Given the description of an element on the screen output the (x, y) to click on. 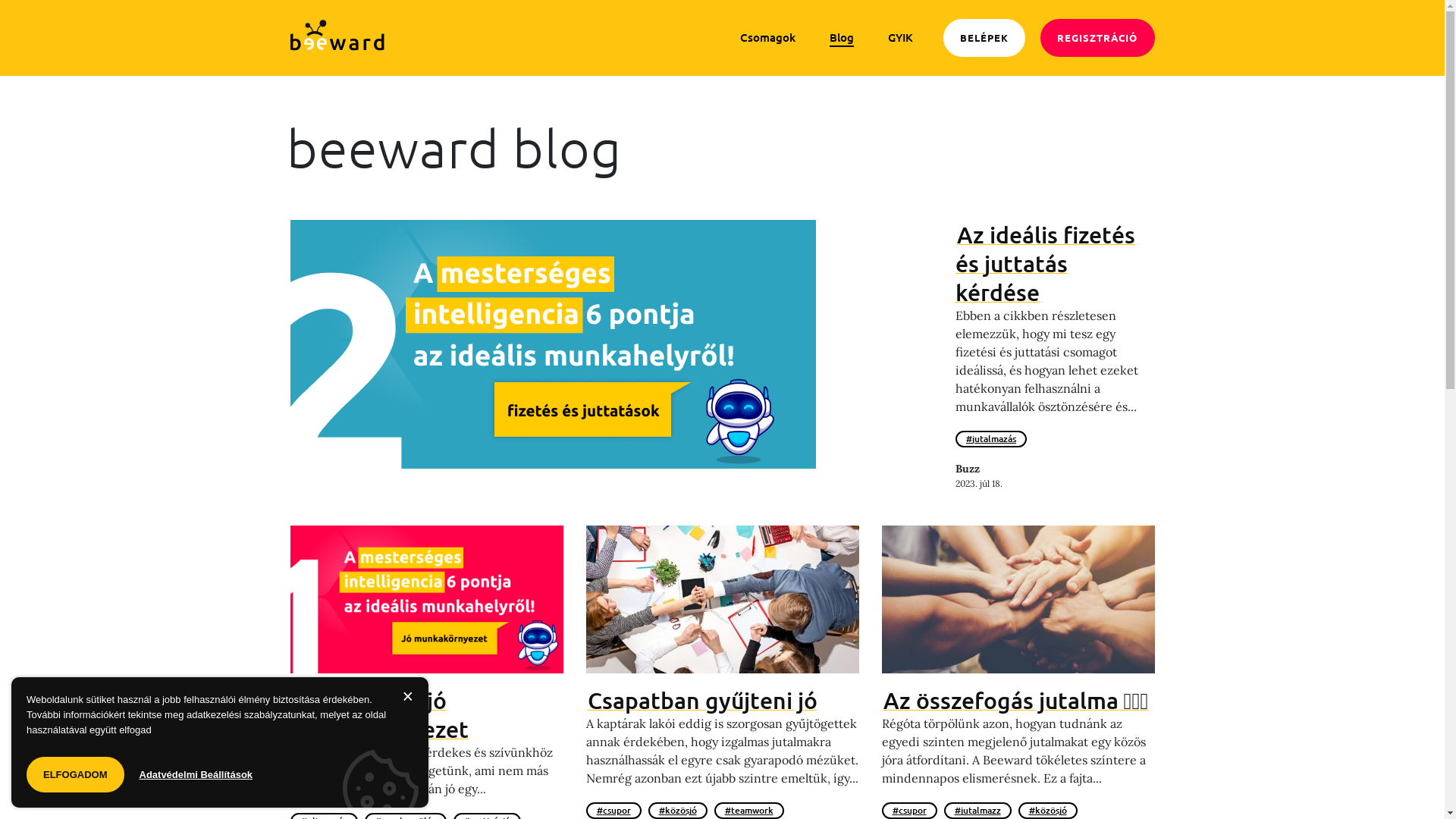
Csomagok Element type: text (767, 37)
ELFOGADOM Element type: text (75, 774)
Blog Element type: text (841, 37)
GYIK Element type: text (900, 37)
